Given the description of an element on the screen output the (x, y) to click on. 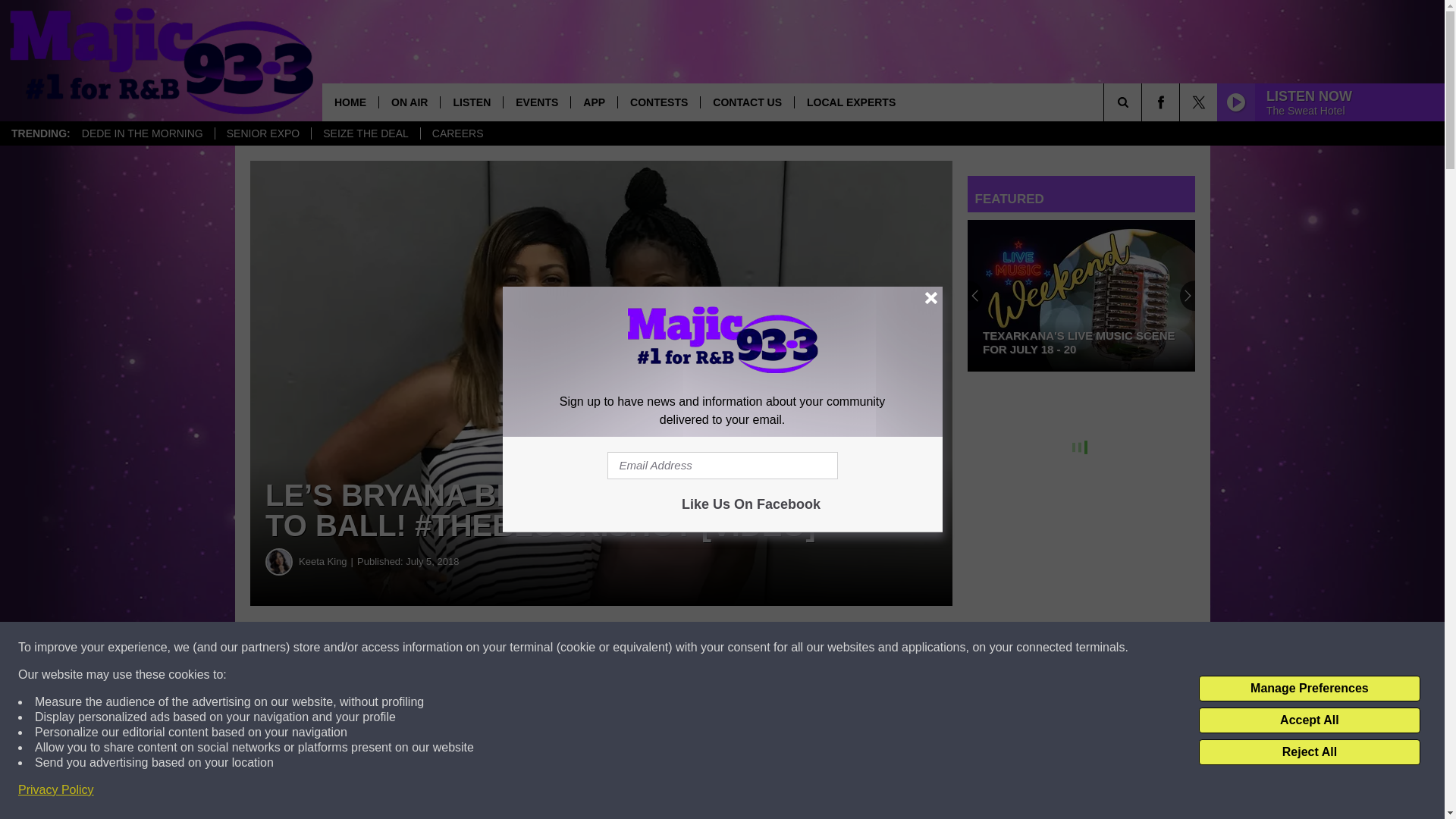
SENIOR EXPO (262, 133)
LOCAL EXPERTS (850, 102)
Reject All (1309, 751)
LISTEN (470, 102)
SEIZE THE DEAL (365, 133)
DEDE IN THE MORNING (141, 133)
SEARCH (1144, 102)
CAREERS (457, 133)
CONTACT US (746, 102)
SEARCH (1144, 102)
Manage Preferences (1309, 688)
CONTESTS (658, 102)
Privacy Policy (55, 789)
Share on Facebook (460, 647)
Accept All (1309, 720)
